Given the description of an element on the screen output the (x, y) to click on. 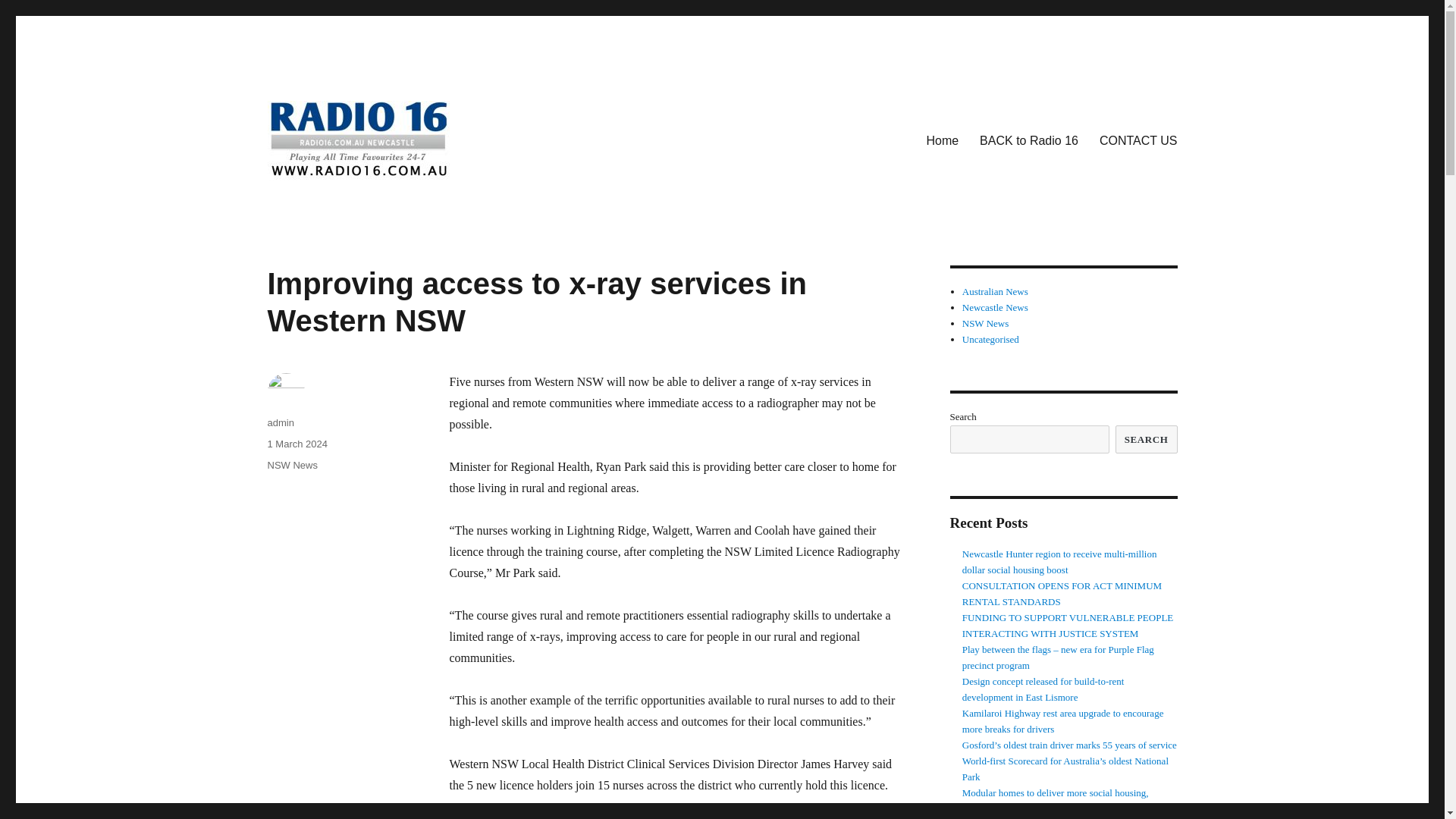
admin (280, 422)
News Happening in NSW (985, 323)
BACK to Radio 16 (1029, 140)
NSW News (291, 464)
Home (942, 140)
All the news happening in the Newcastle and Hunter Region (994, 307)
1 March 2024 (296, 443)
All the news from around Australia (994, 291)
CONTACT US (1138, 140)
16 News (309, 204)
